Given the description of an element on the screen output the (x, y) to click on. 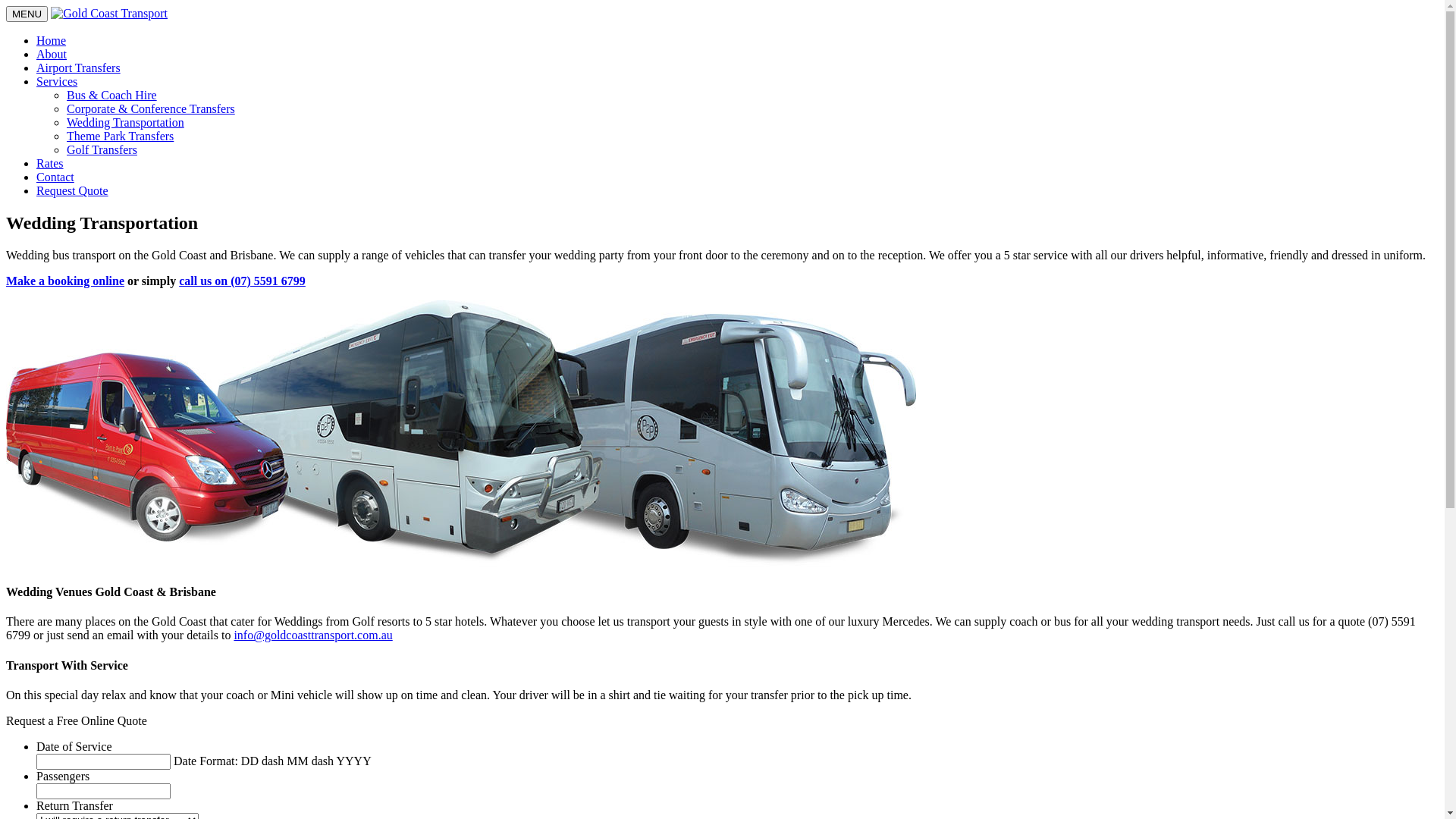
info@goldcoasttransport.com.au Element type: text (312, 634)
Rates Element type: text (49, 162)
About Element type: text (51, 53)
Request Quote Element type: text (72, 190)
MENU Element type: text (26, 13)
call us on (07) 5591 6799 Element type: text (241, 280)
Wedding Transportation Element type: text (125, 122)
Corporate & Conference Transfers Element type: text (150, 108)
Make a booking online Element type: text (65, 280)
Airport Transfers Element type: text (78, 67)
Bus & Coach Hire Element type: text (111, 94)
Golf Transfers Element type: text (101, 149)
Contact Element type: text (55, 176)
Services Element type: text (56, 81)
Home Element type: text (50, 40)
Theme Park Transfers Element type: text (119, 135)
